Given the description of an element on the screen output the (x, y) to click on. 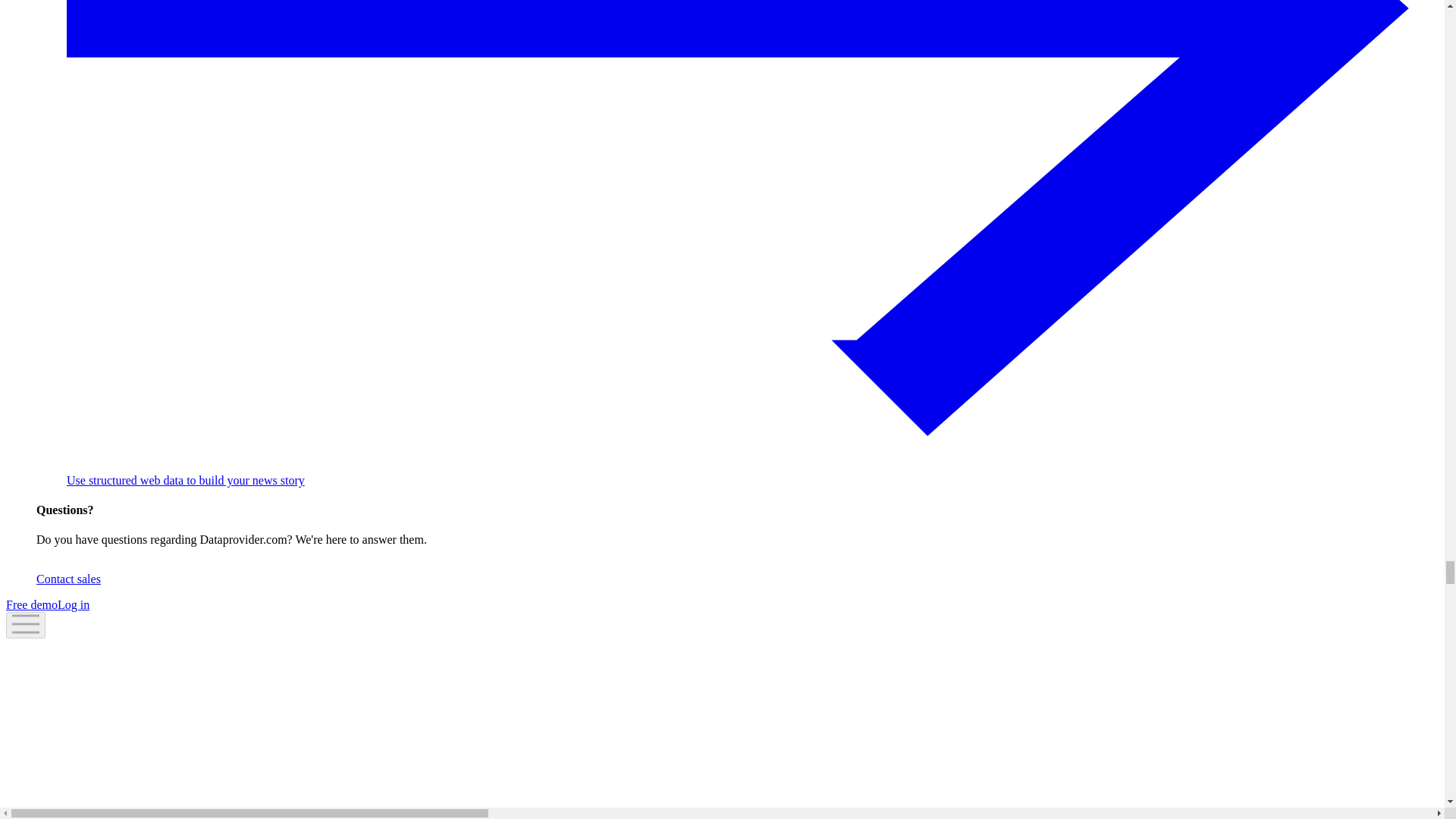
Free demo (31, 604)
Log in (73, 604)
Free demo (31, 604)
Contact sales (68, 578)
Log in (73, 604)
